Given the description of an element on the screen output the (x, y) to click on. 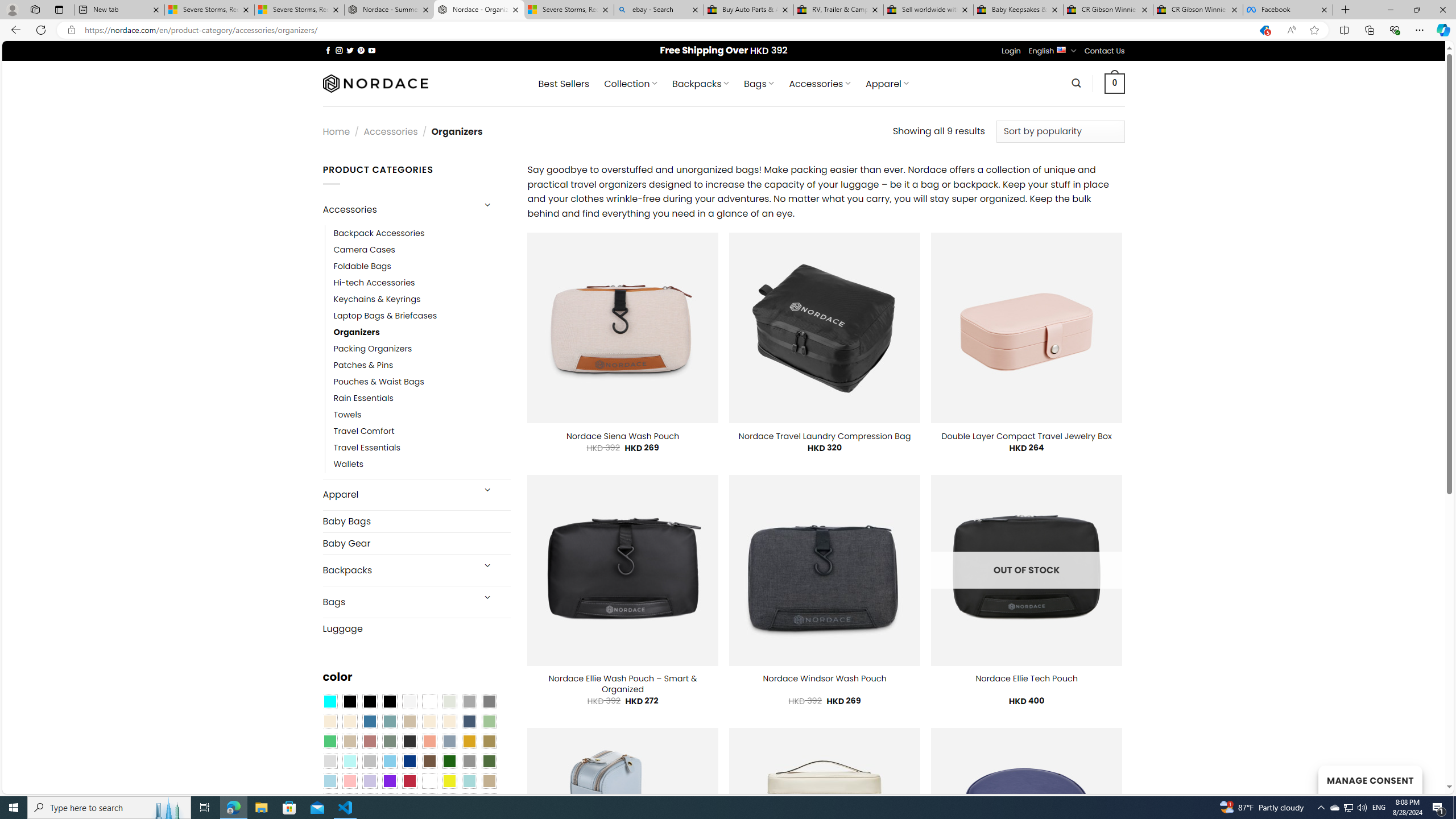
Baby Bags (416, 521)
Packing Organizers (422, 348)
Backpack Accessories (379, 232)
Laptop Bags & Briefcases (422, 316)
Pouches & Waist Bags (422, 381)
Copilot (Ctrl+Shift+.) (1442, 29)
Minimize (1390, 9)
Blue Sage (389, 721)
Nordace Ellie Tech Pouch (1026, 678)
Patches & Pins (422, 365)
Beige (329, 721)
Green (488, 761)
